Given the description of an element on the screen output the (x, y) to click on. 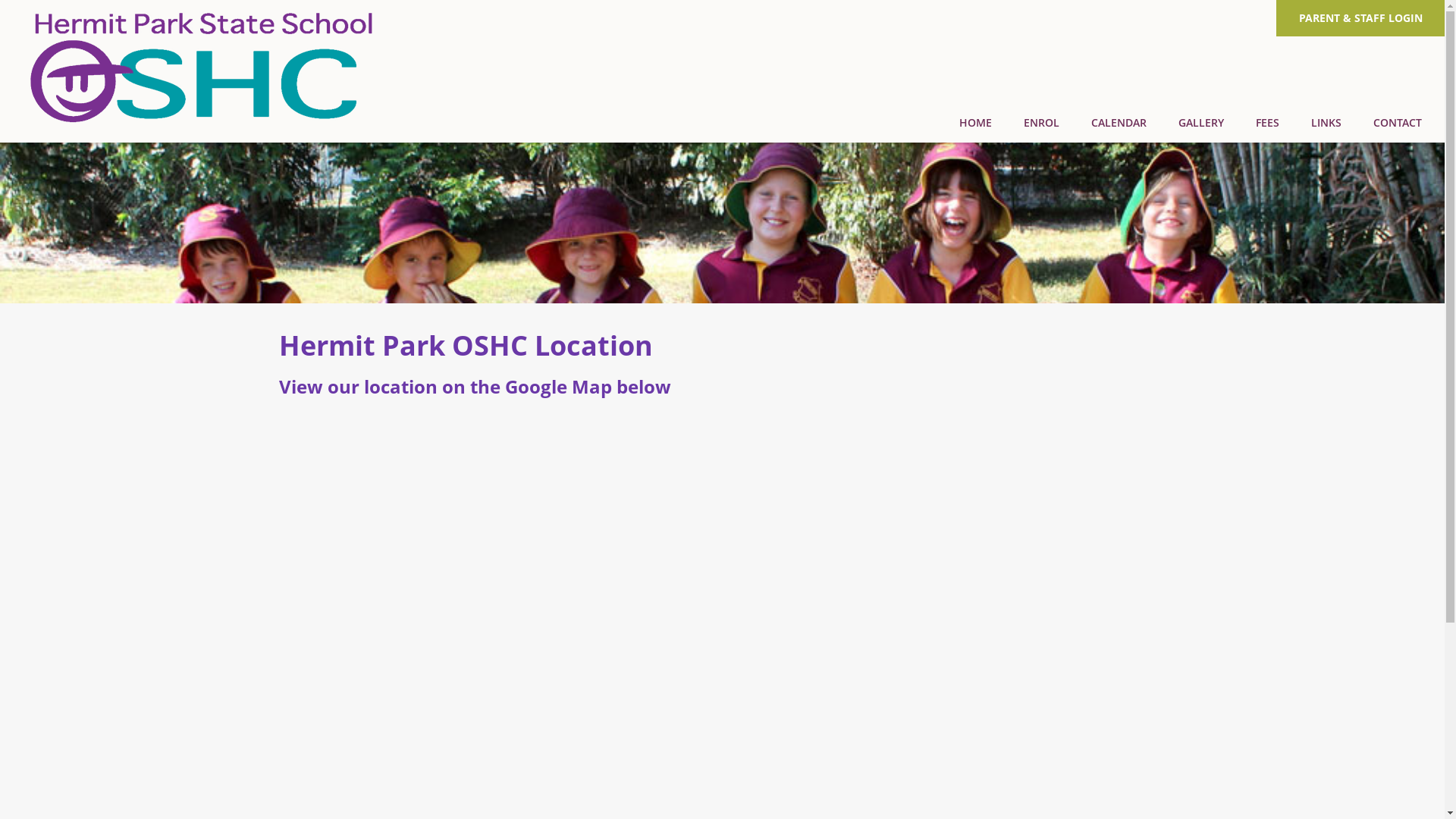
FEES Element type: text (1267, 123)
HOME Element type: text (975, 123)
CALENDAR Element type: text (1118, 123)
PARENT & STAFF LOGIN Element type: text (1360, 18)
GALLERY Element type: text (1200, 123)
LINKS Element type: text (1326, 123)
ENROL Element type: text (1041, 123)
CONTACT Element type: text (1397, 123)
